Given the description of an element on the screen output the (x, y) to click on. 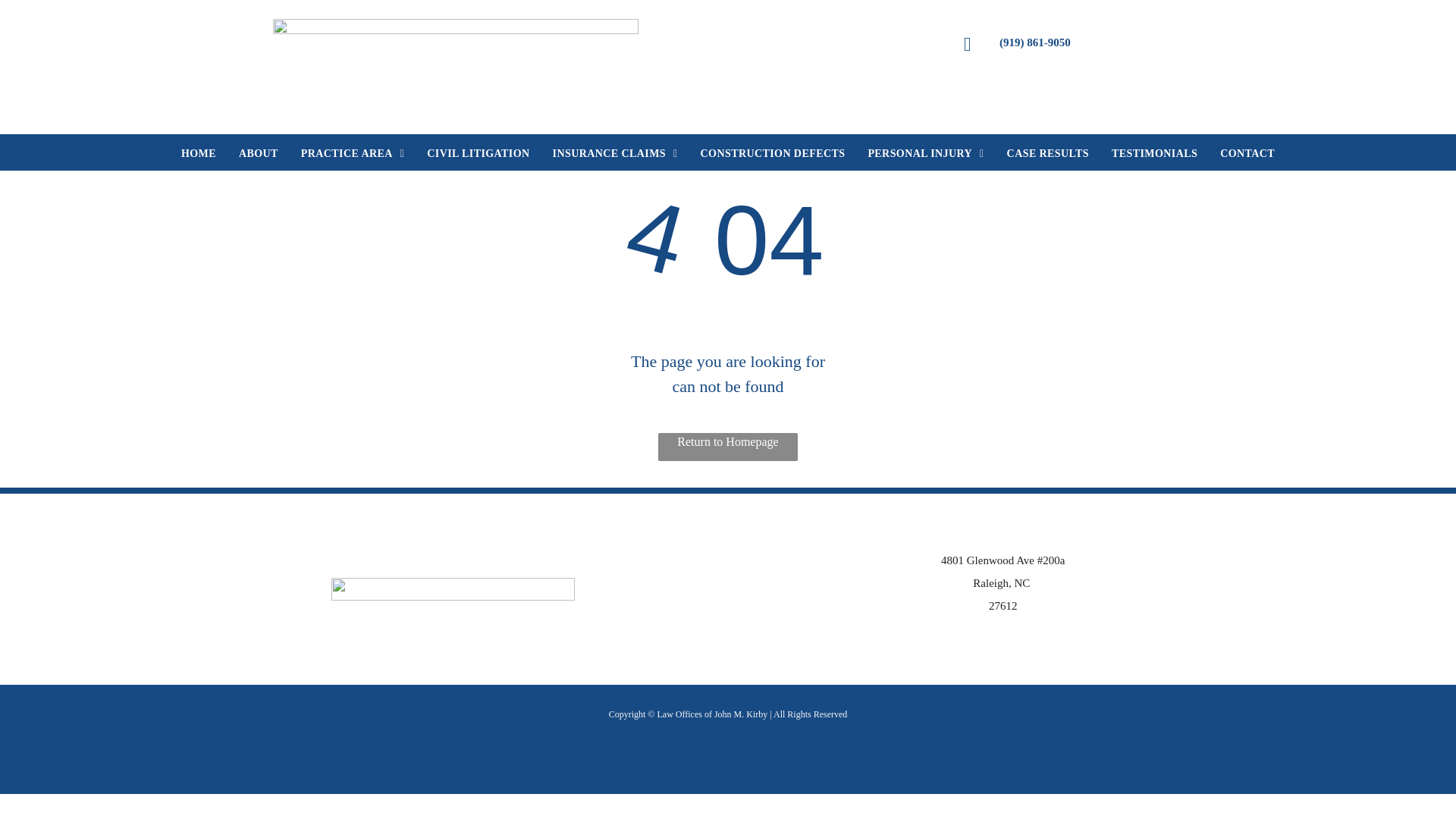
CIVIL LITIGATION (477, 153)
CONSTRUCTION DEFECTS (772, 153)
HOME (198, 153)
PRACTICE AREA (352, 153)
INSURANCE CLAIMS (614, 153)
PERSONAL INJURY (925, 153)
ABOUT (258, 153)
